Given the description of an element on the screen output the (x, y) to click on. 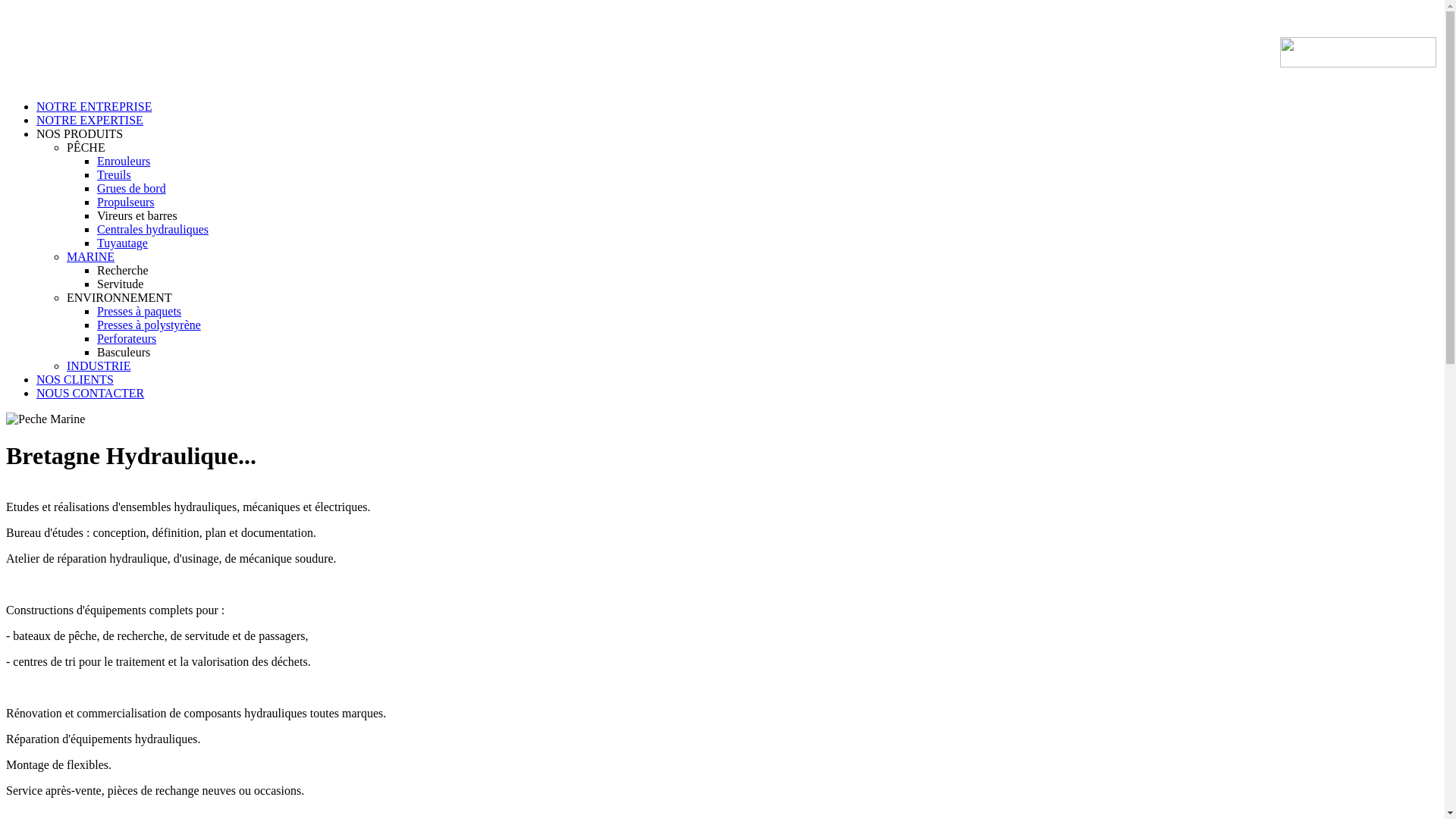
MARINE Element type: text (90, 256)
Enrouleurs Element type: text (123, 160)
Treuils Element type: text (114, 174)
Perforateurs Element type: text (126, 338)
NOS CLIENTS Element type: text (74, 379)
Propulseurs Element type: text (125, 201)
Tuyautage Element type: text (122, 242)
NOUS CONTACTER Element type: text (90, 392)
Centrales hydrauliques Element type: text (152, 228)
Grues de bord Element type: text (131, 188)
NOTRE ENTREPRISE Element type: text (93, 106)
NOTRE EXPERTISE Element type: text (89, 119)
INDUSTRIE Element type: text (98, 365)
